Given the description of an element on the screen output the (x, y) to click on. 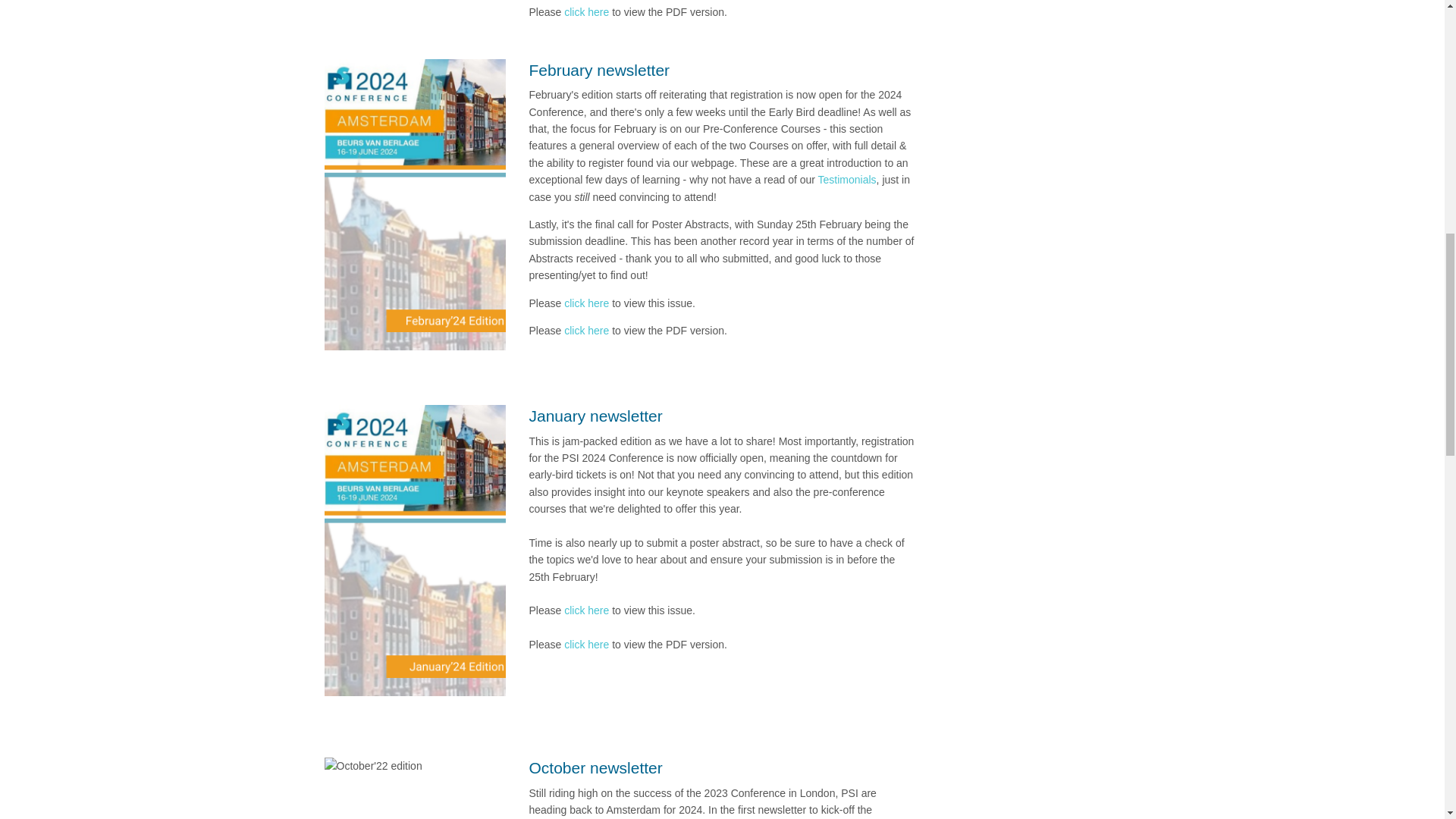
click here (586, 11)
click here (586, 644)
October'22 edition (373, 765)
click here (586, 330)
